Given the description of an element on the screen output the (x, y) to click on. 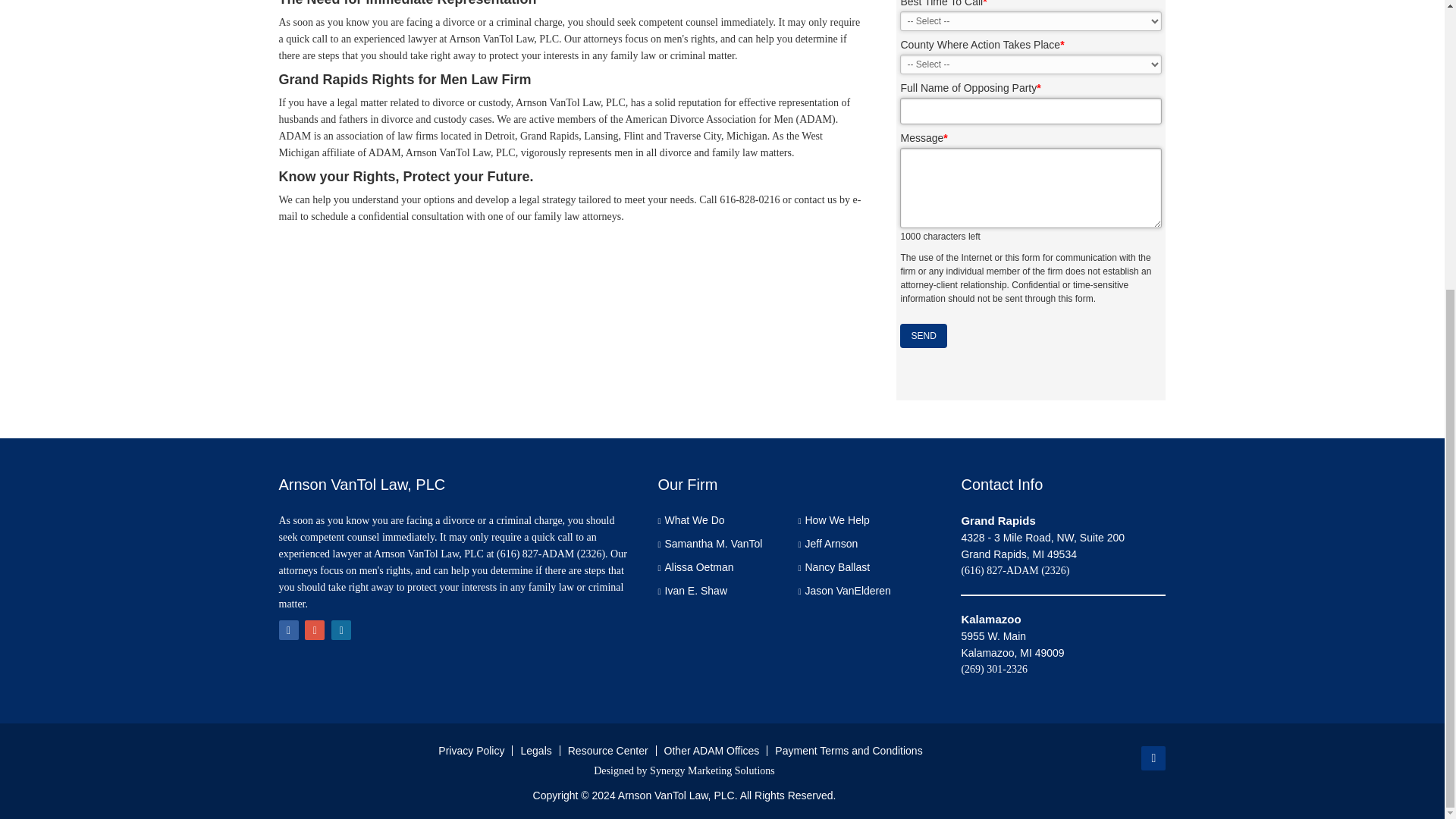
Goto Top (1153, 758)
